Given the description of an element on the screen output the (x, y) to click on. 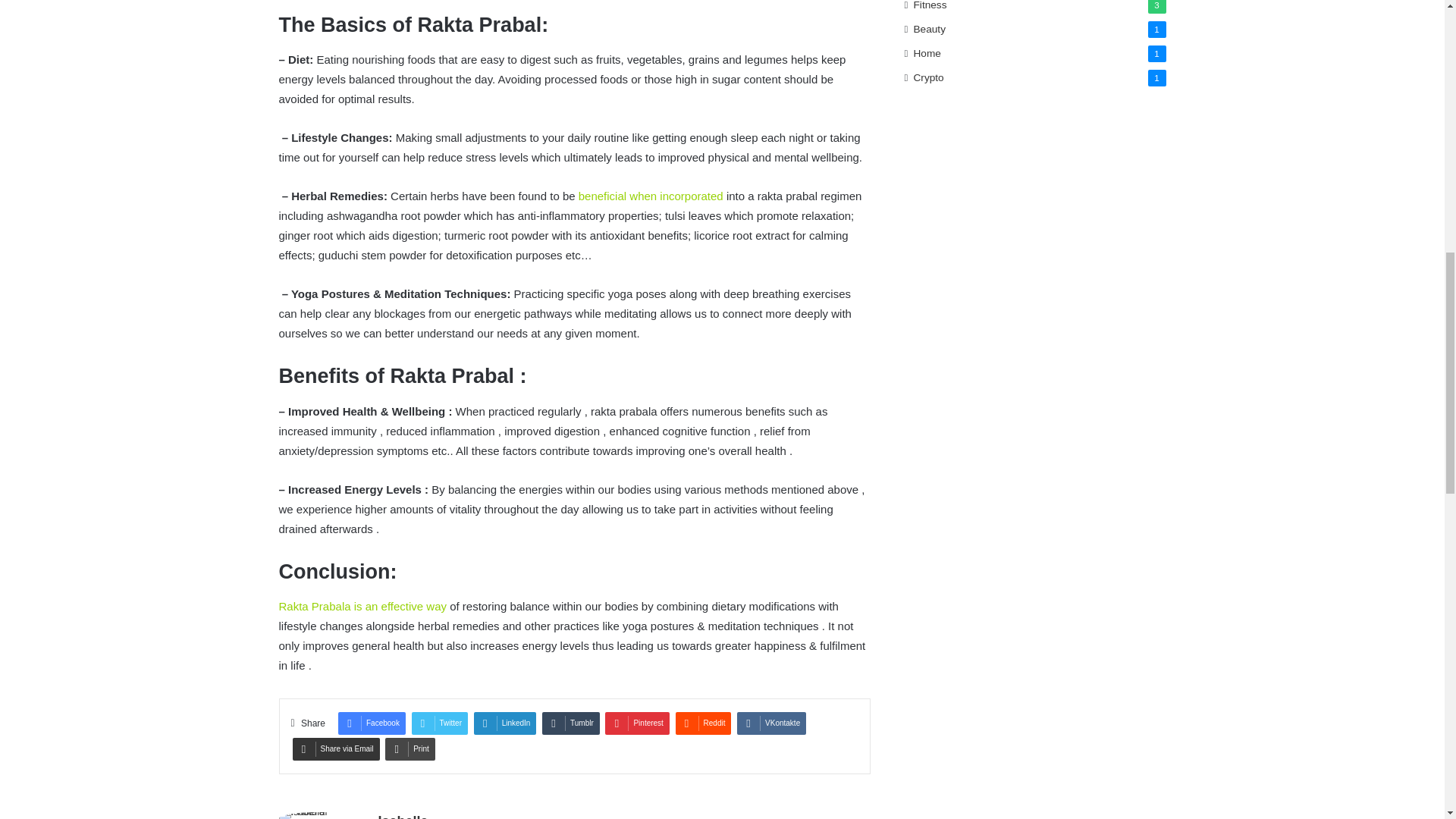
Pinterest (636, 722)
beneficial when incorporated (650, 195)
VKontakte (771, 722)
Rakta Prabala is an effective way (362, 605)
LinkedIn (505, 722)
Tumblr (570, 722)
Reddit (703, 722)
Twitter (439, 722)
Facebook (371, 722)
